Given the description of an element on the screen output the (x, y) to click on. 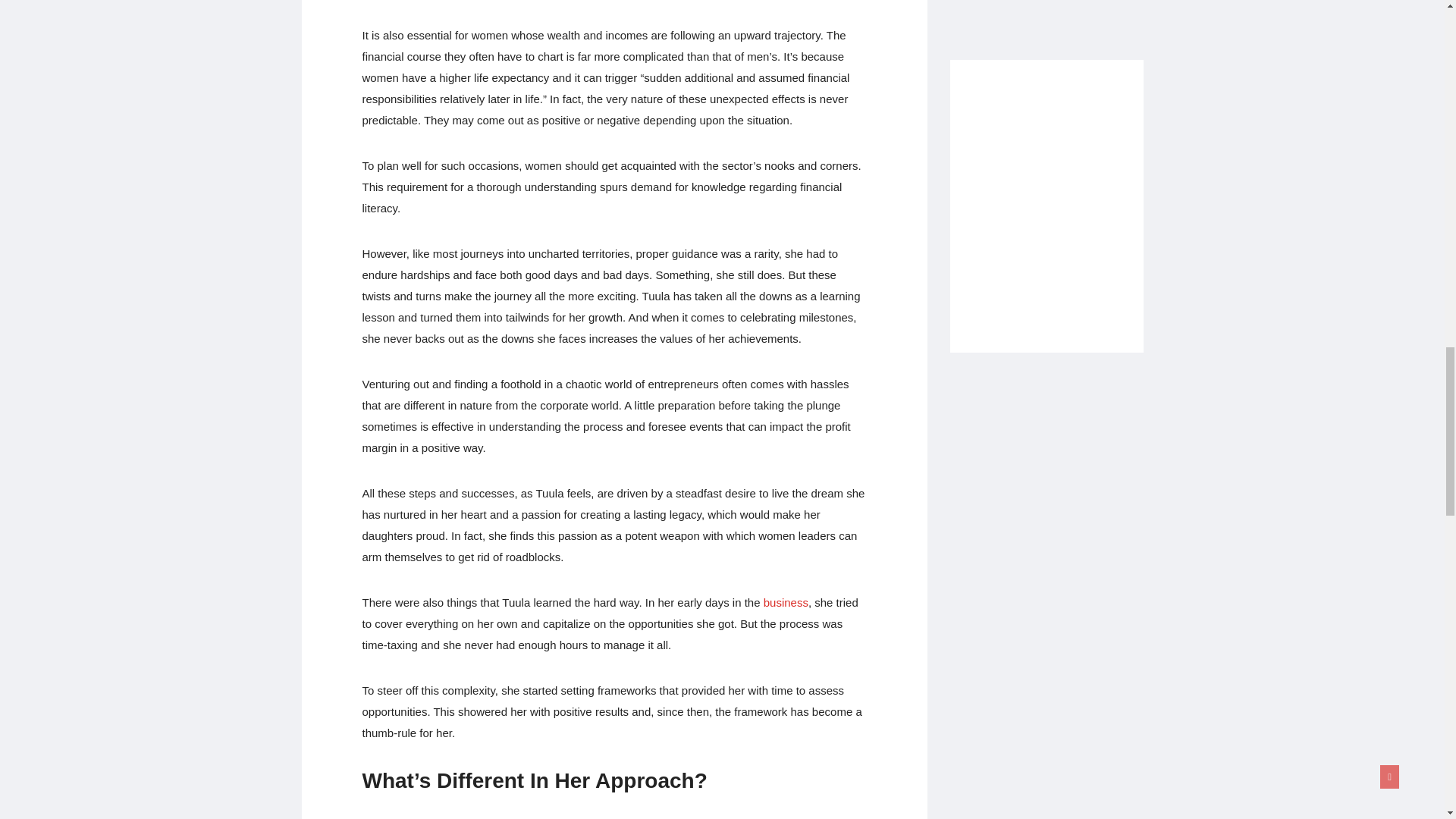
business (785, 602)
